Given the description of an element on the screen output the (x, y) to click on. 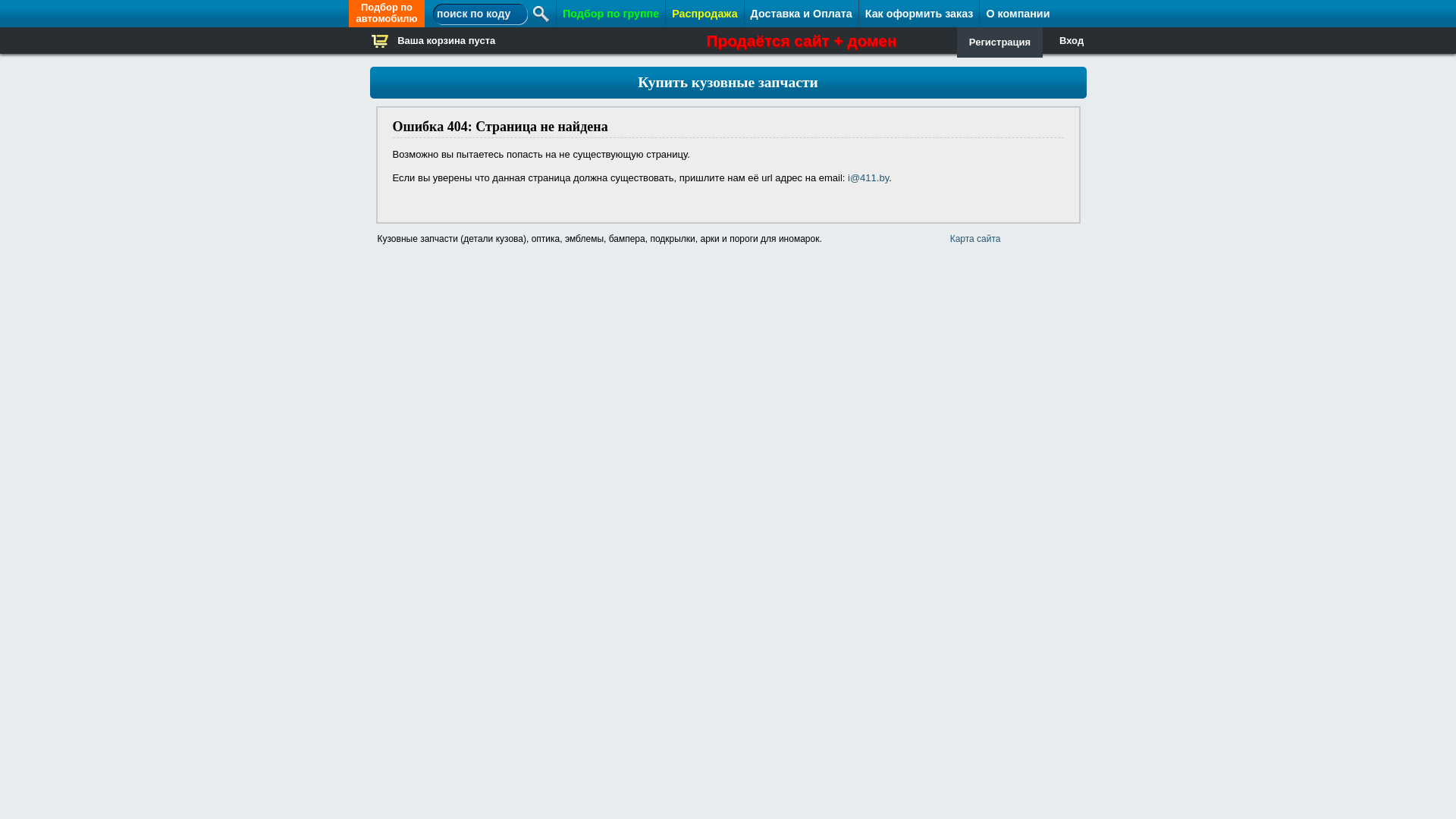
i@411.by Element type: text (867, 177)
